Given the description of an element on the screen output the (x, y) to click on. 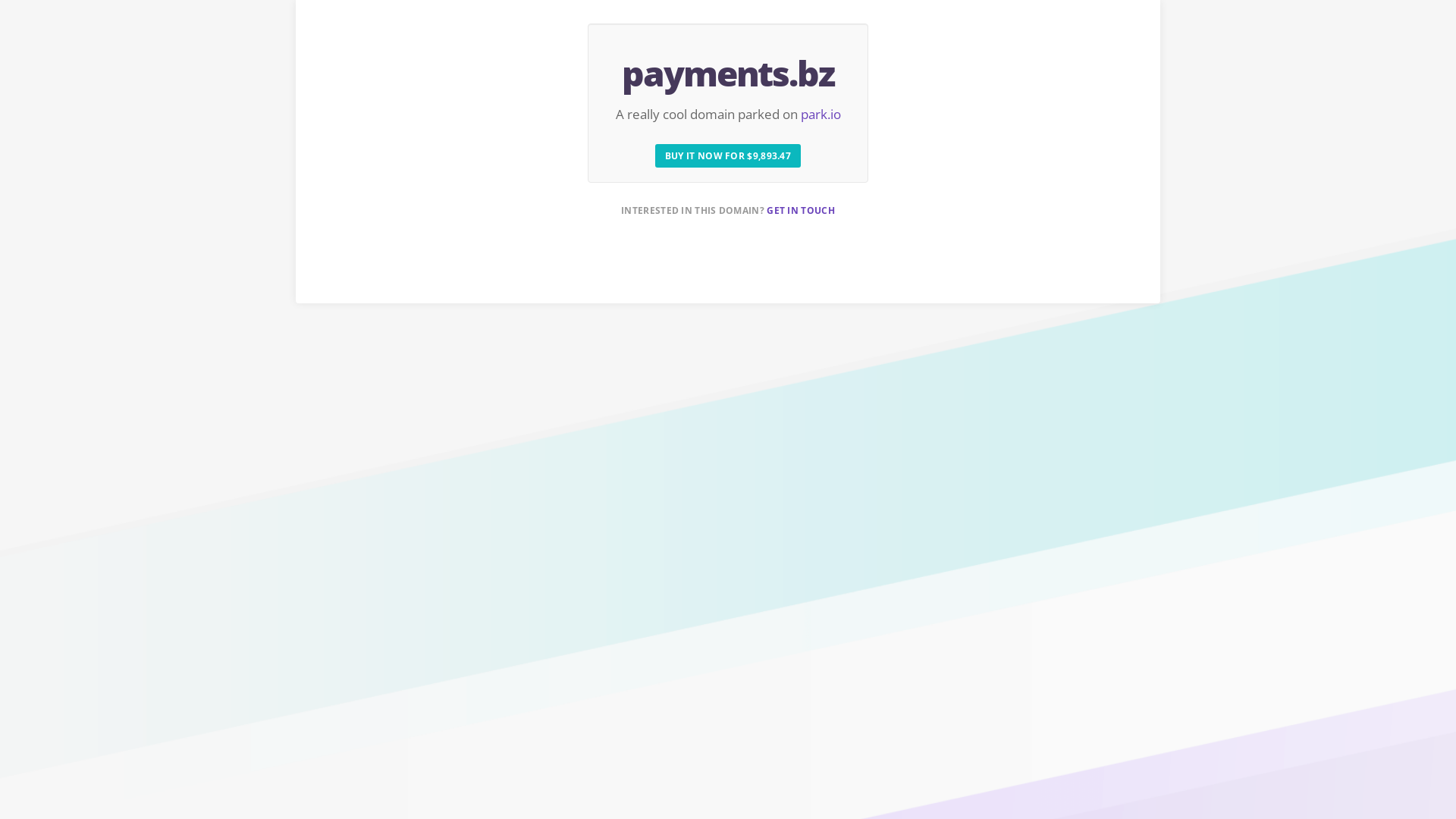
GET IN TOUCH Element type: text (800, 209)
BUY IT NOW FOR $9,893.47 Element type: text (727, 155)
park.io Element type: text (820, 113)
